Given the description of an element on the screen output the (x, y) to click on. 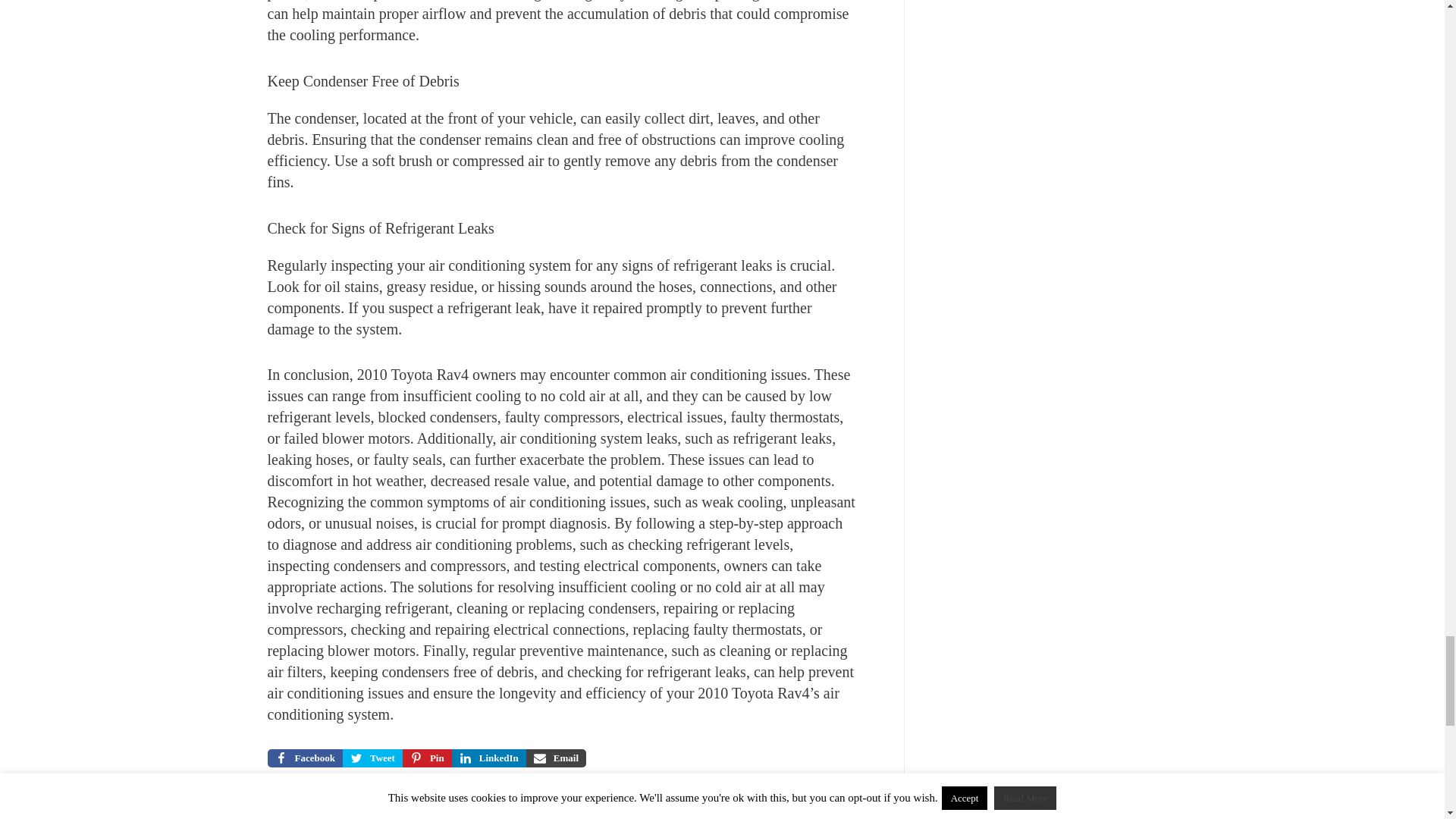
Share on Pinterest (427, 758)
Share on Facebook (304, 758)
Email (555, 758)
Share on LinkedIn (488, 758)
Share via Email (555, 758)
Share on Twitter (372, 758)
